Given the description of an element on the screen output the (x, y) to click on. 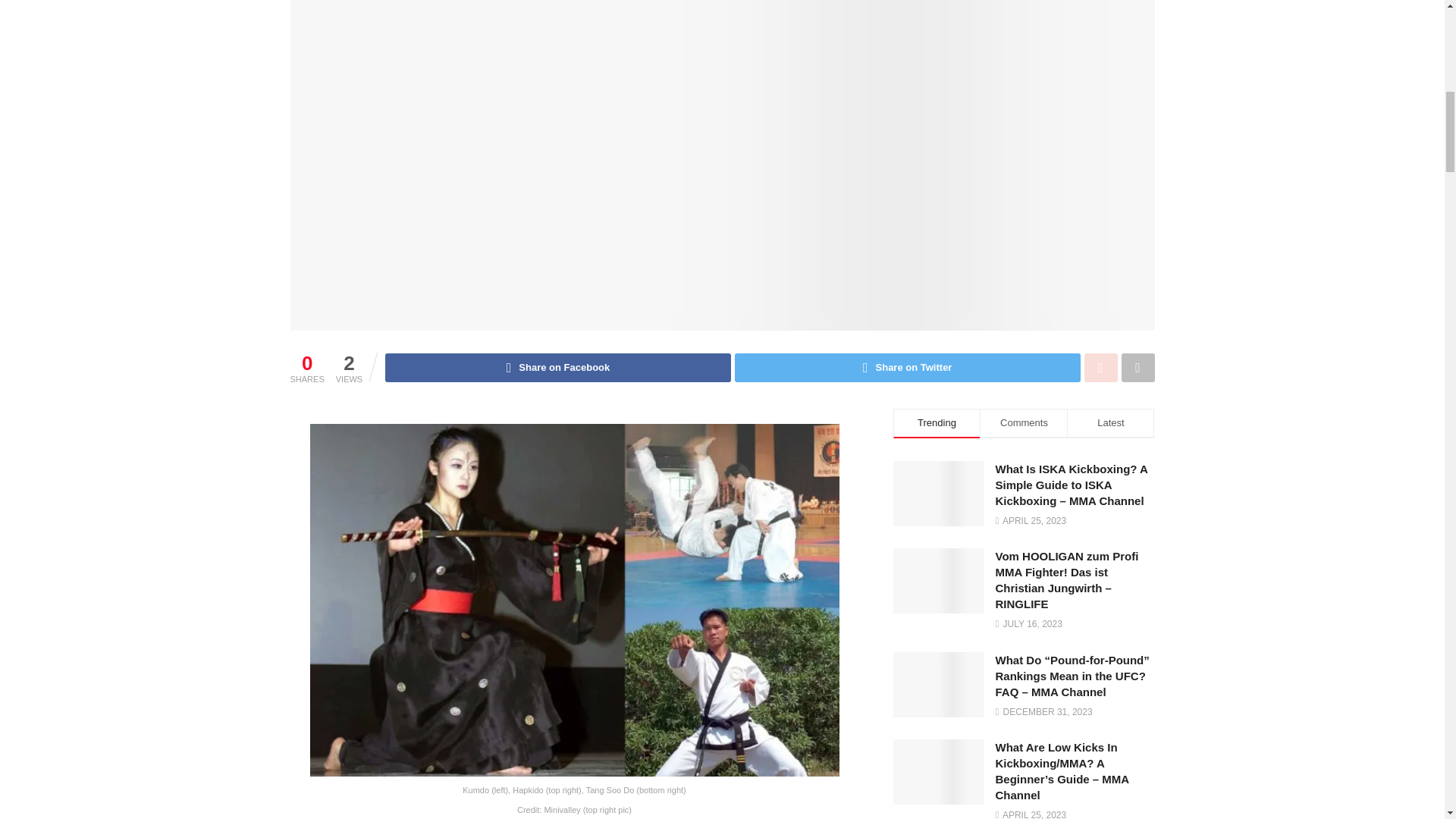
Share on Facebook (557, 367)
Share on Twitter (907, 367)
